Given the description of an element on the screen output the (x, y) to click on. 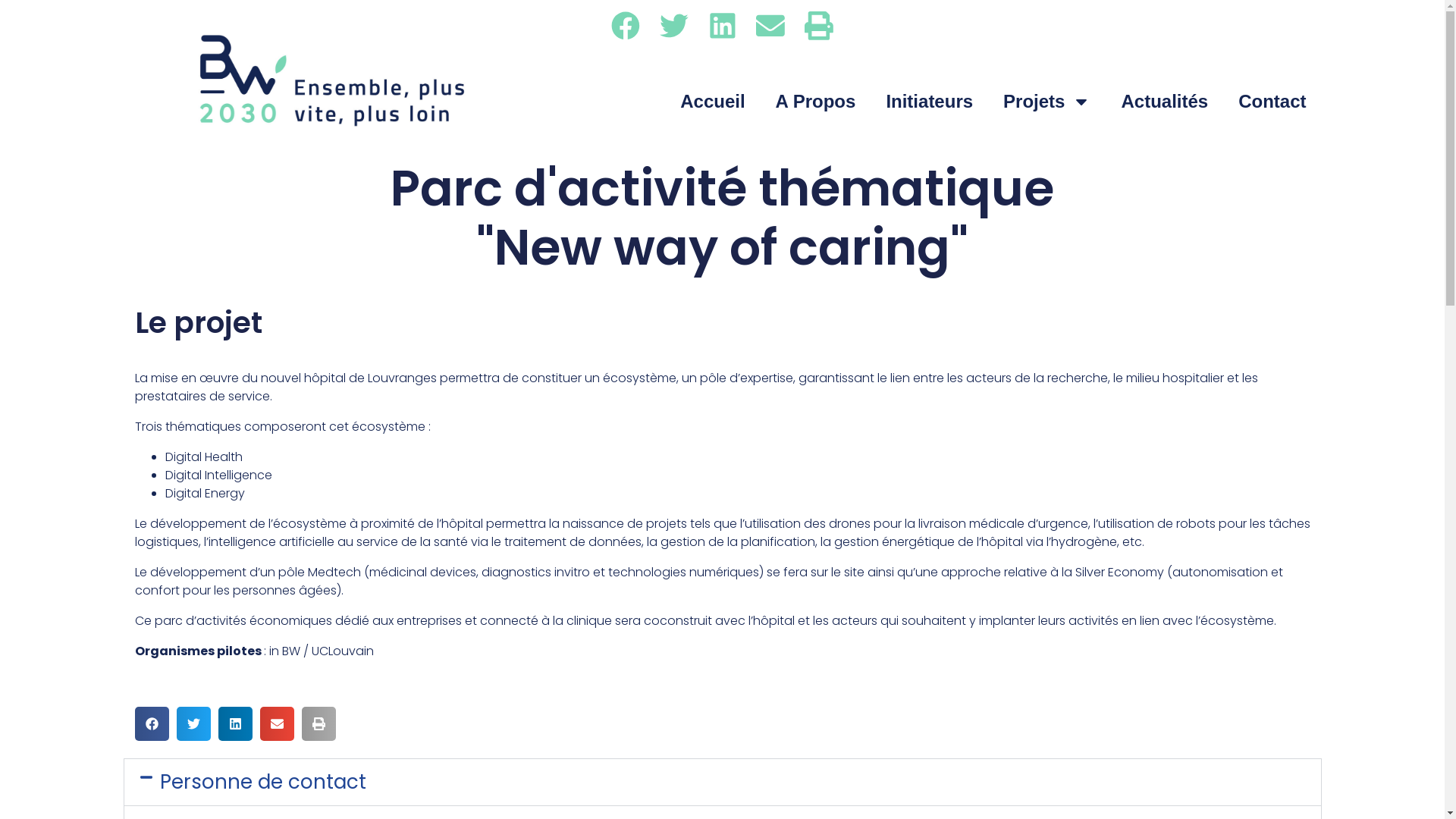
Personne de contact Element type: text (262, 781)
Contact Element type: text (1272, 101)
Initiateurs Element type: text (929, 101)
Projets Element type: text (1046, 101)
Accueil Element type: text (712, 101)
A Propos Element type: text (815, 101)
